Given the description of an element on the screen output the (x, y) to click on. 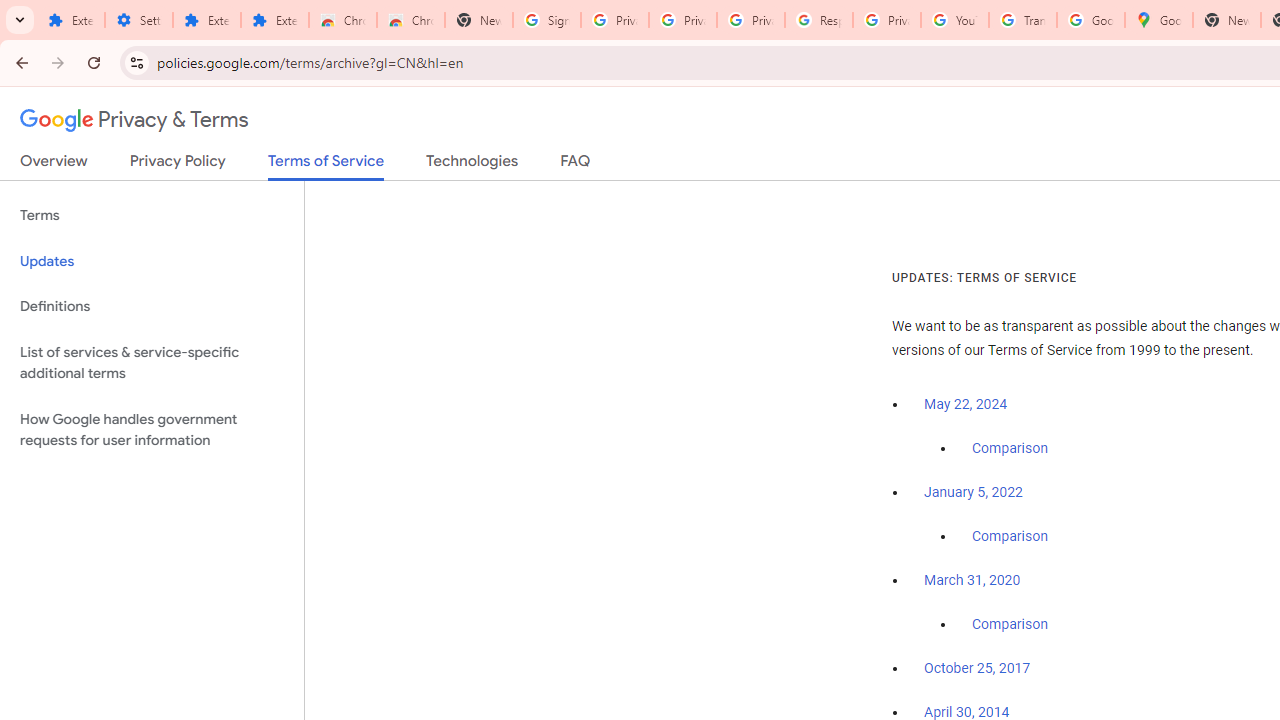
Chrome Web Store (342, 20)
October 25, 2017 (977, 669)
FAQ (575, 165)
Settings (138, 20)
New Tab (479, 20)
January 5, 2022 (973, 492)
Comparison (1009, 625)
Extensions (274, 20)
List of services & service-specific additional terms (152, 362)
New Tab (1226, 20)
Privacy & Terms (134, 120)
